Given the description of an element on the screen output the (x, y) to click on. 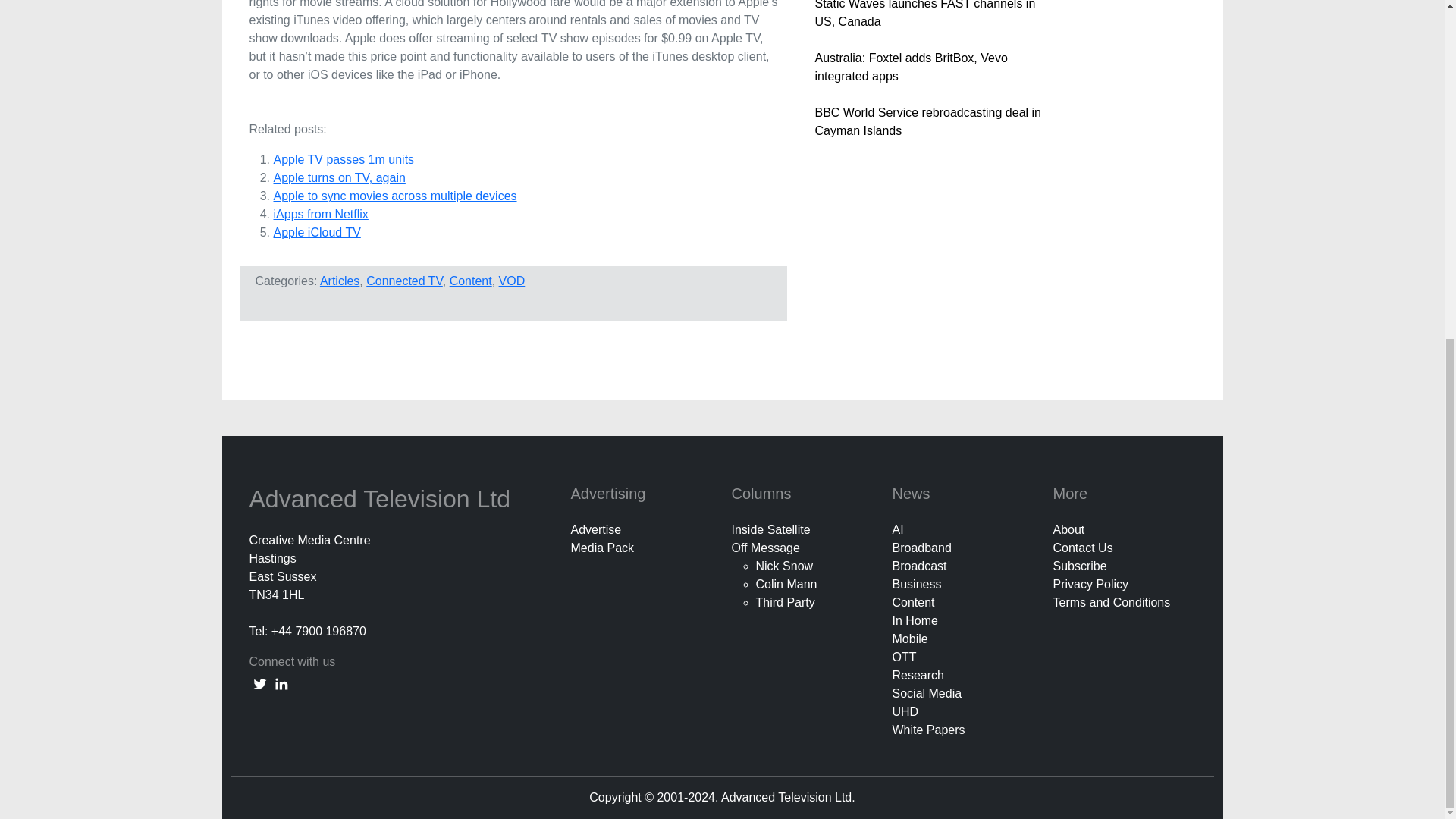
Static Waves launches FAST channels in US, Canada (924, 13)
Advanced Television Ltd  (382, 498)
Apple turns on TV, again (338, 177)
Articles (339, 280)
Content (470, 280)
Connected TV (404, 280)
iApps from Netflix (320, 214)
Australia: Foxtel adds BritBox, Vevo integrated apps (910, 66)
Apple to sync movies across multiple devices (394, 195)
Apple iCloud TV (316, 232)
VOD (512, 280)
Apple to sync movies across multiple devices (394, 195)
Apple TV passes 1m units (343, 159)
Apple TV passes 1m units (343, 159)
Media Pack (601, 547)
